Given the description of an element on the screen output the (x, y) to click on. 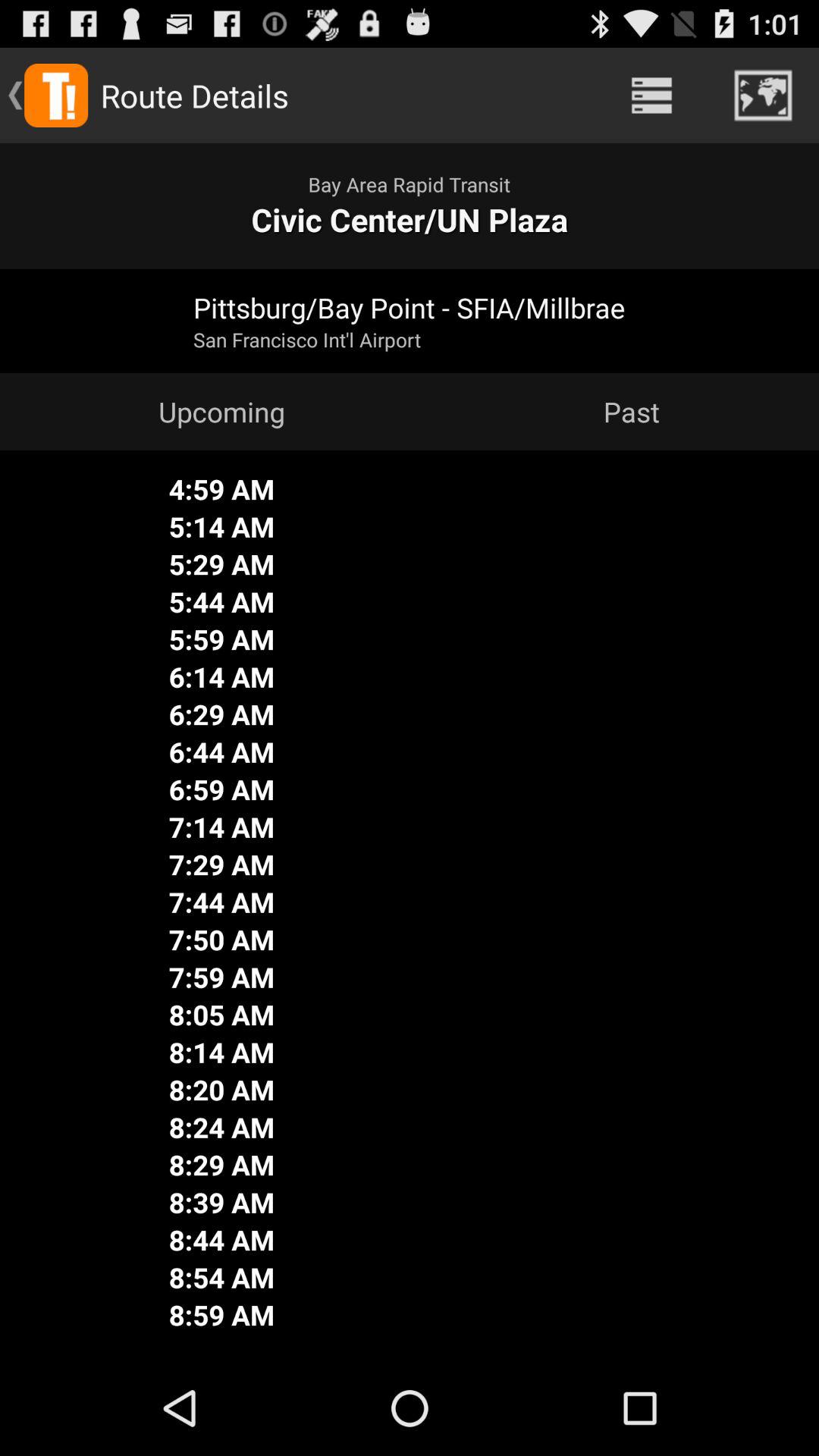
tap the icon to the right of the route details app (651, 95)
